Given the description of an element on the screen output the (x, y) to click on. 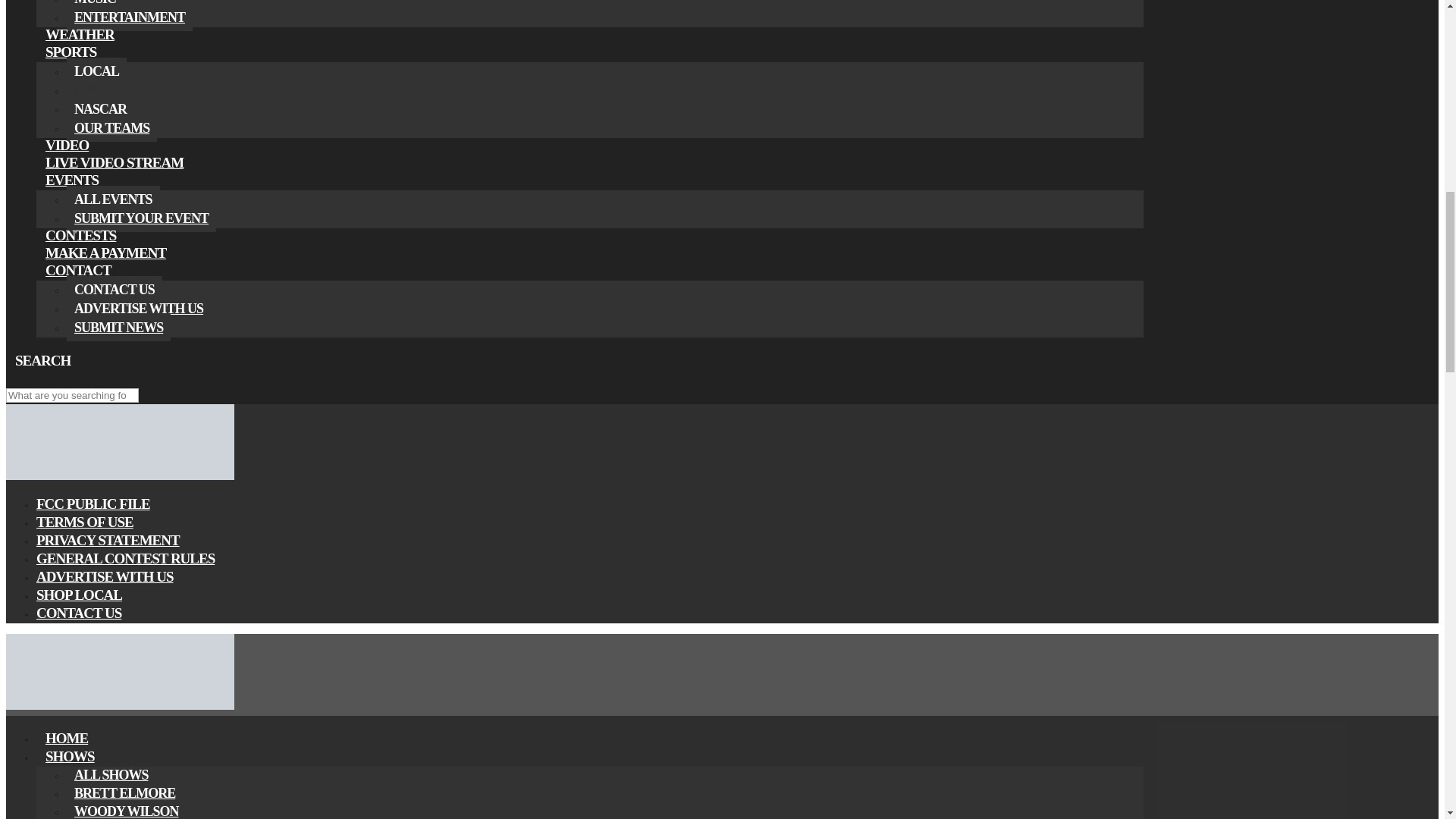
Follow us on Youtube (51, 379)
Search for: (71, 395)
WJLX 101.5 FM (119, 476)
Follow us on X (33, 379)
Follow us on Facebook (14, 379)
